Given the description of an element on the screen output the (x, y) to click on. 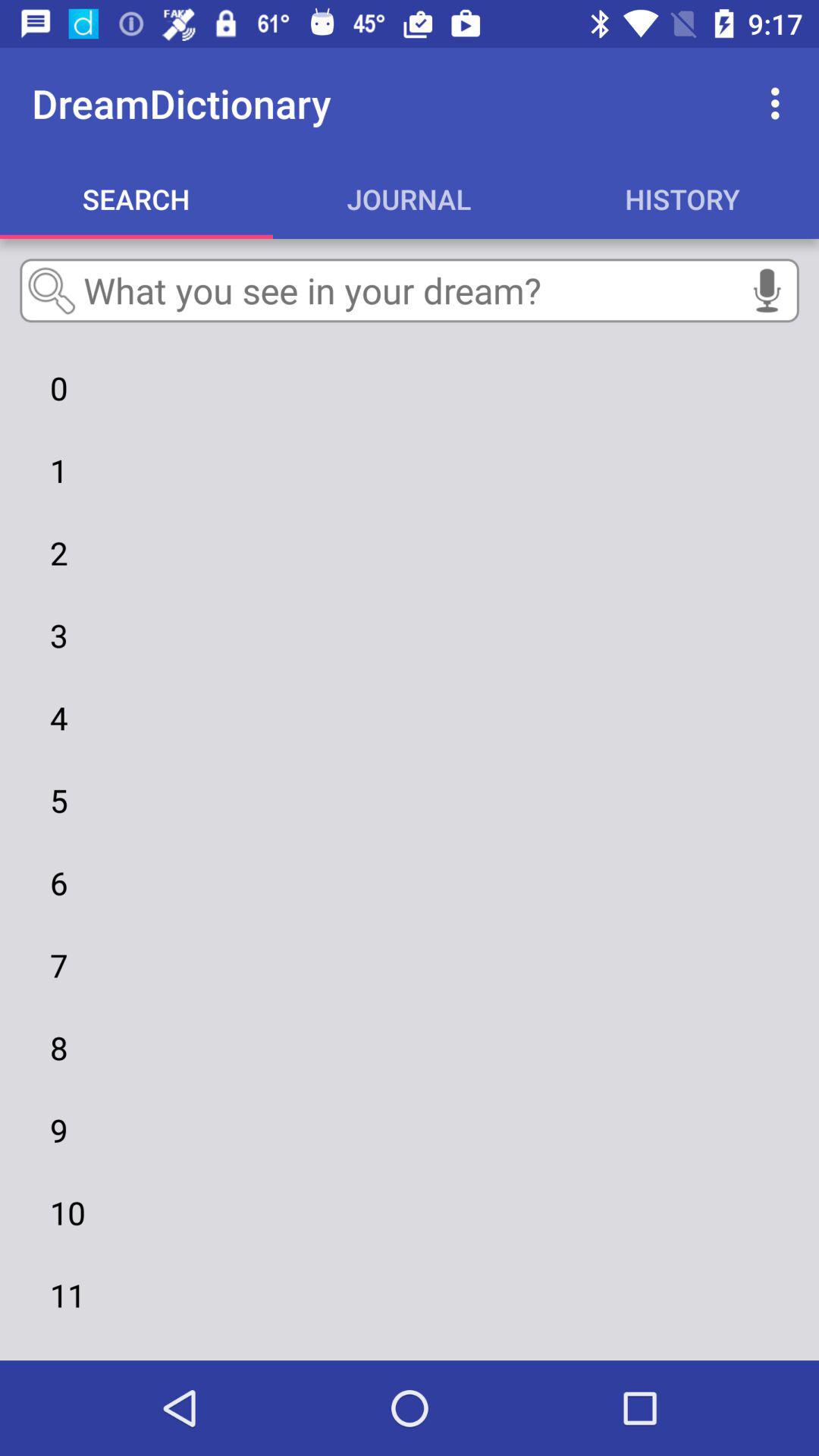
select text box just above the numeric 0 (409, 290)
